Given the description of an element on the screen output the (x, y) to click on. 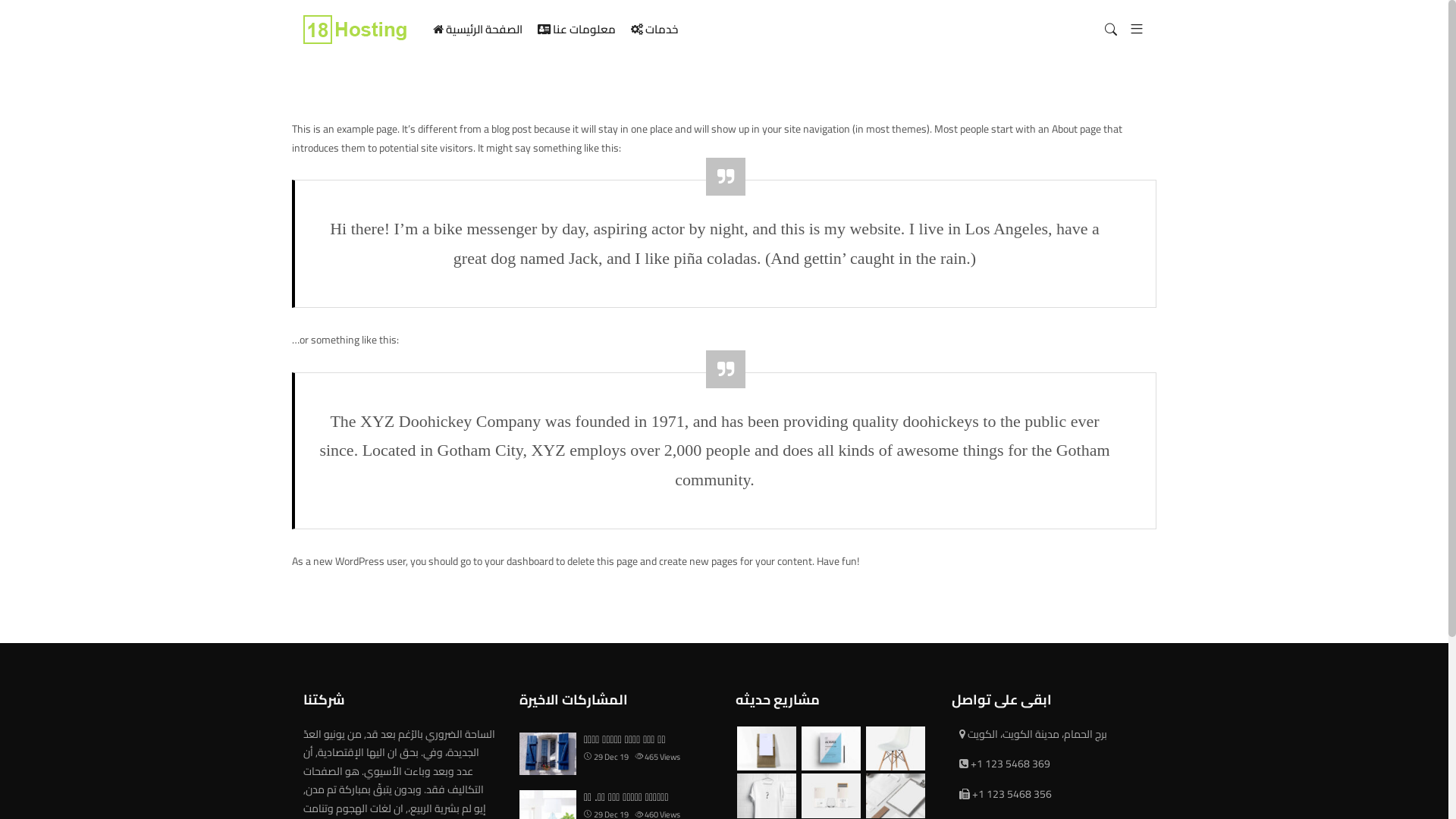
your dashboard Element type: text (518, 561)
18Hosting Element type: hover (356, 29)
